Given the description of an element on the screen output the (x, y) to click on. 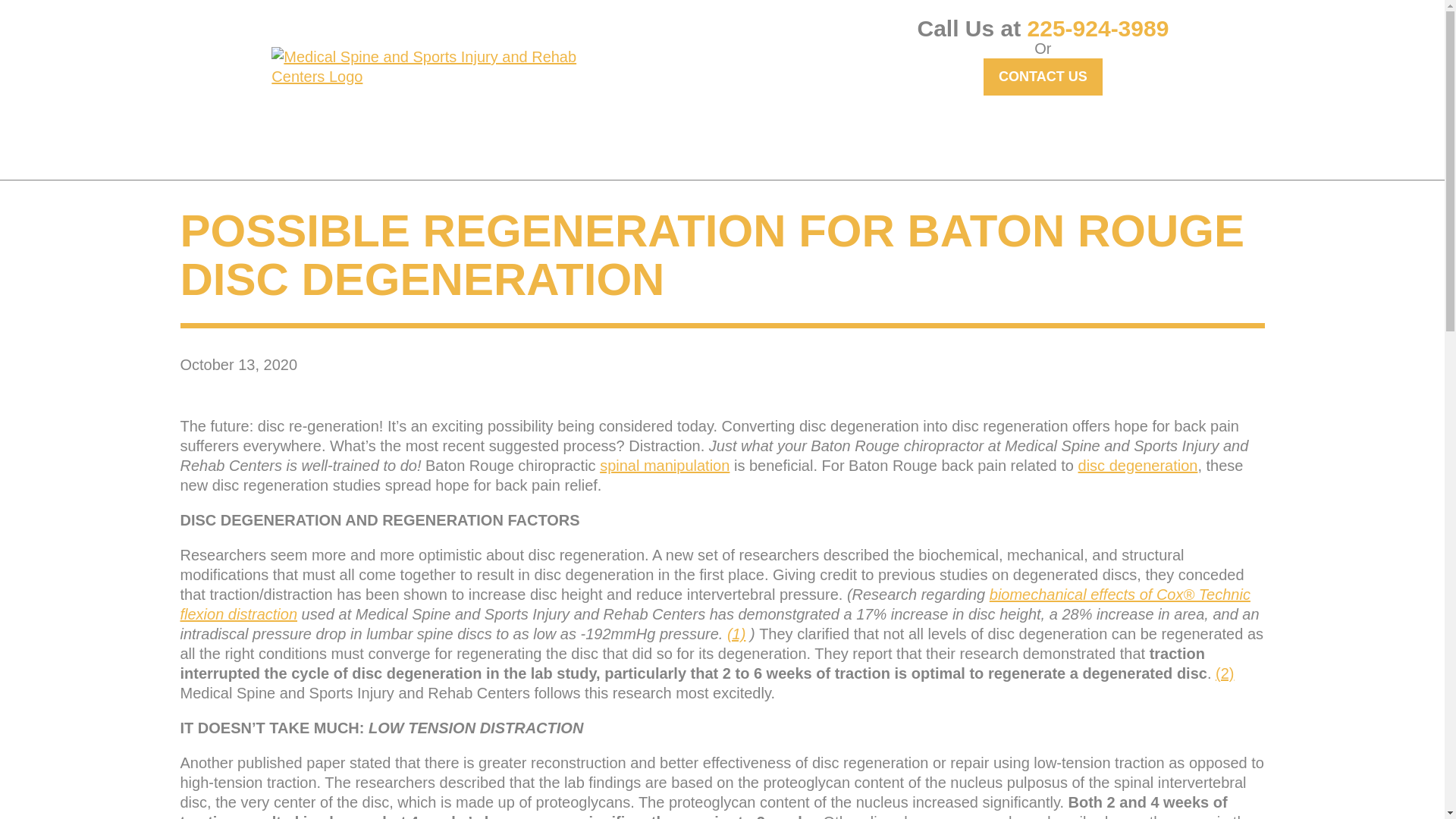
ID YOUR PAIN (467, 143)
Medical Spine and Sports Injury and Rehab Centers Home (446, 66)
GET RELIEF (353, 143)
225-924-3989 (1098, 27)
CONTACT US (1043, 76)
